Given the description of an element on the screen output the (x, y) to click on. 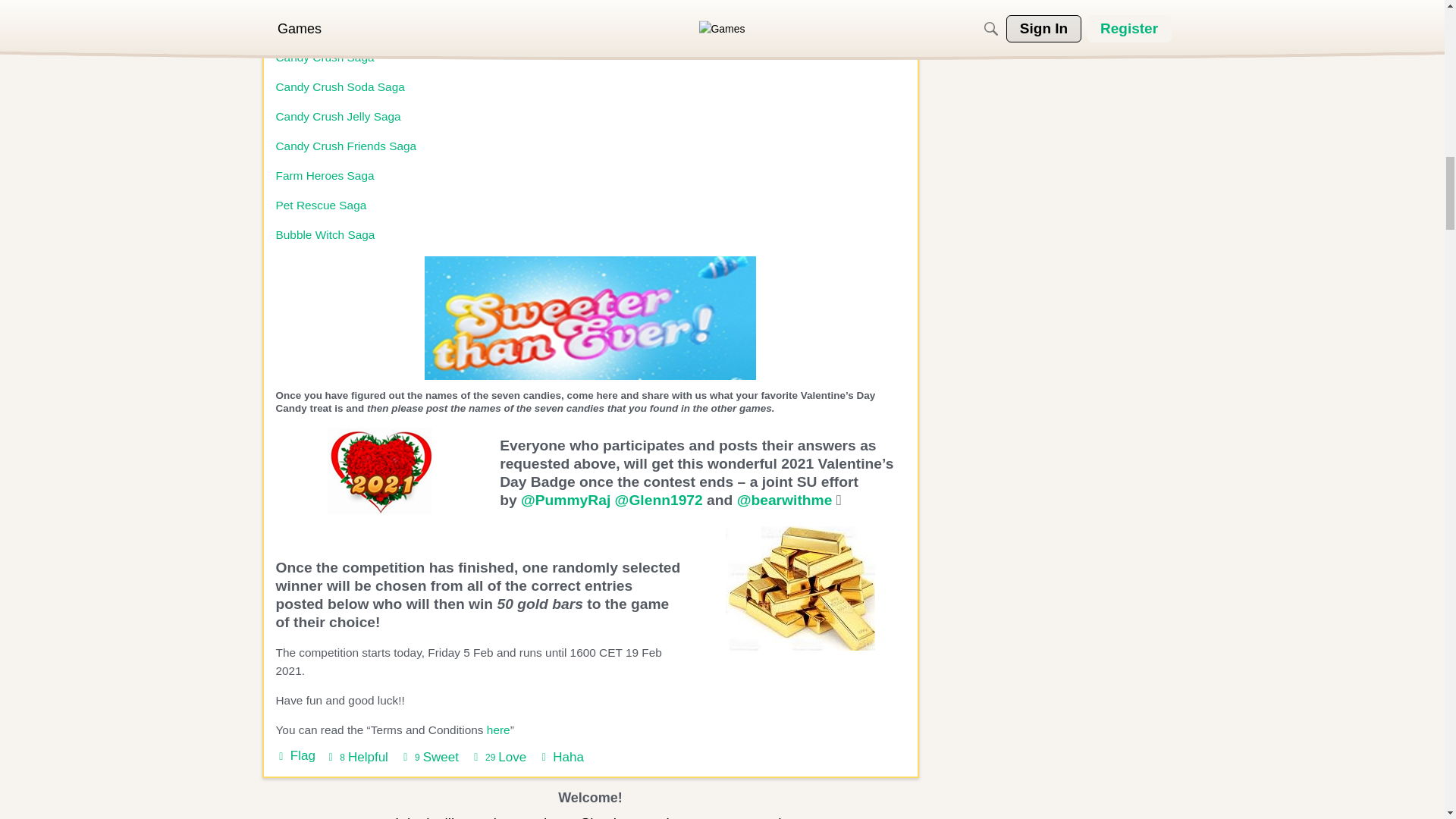
Helpful (356, 757)
Candy Crush Friends Saga (346, 145)
Candy Crush Soda Saga (340, 86)
Candy Crush Saga (356, 757)
Candy Crush Jelly Saga (325, 56)
Bubble Witch Saga (338, 115)
Pet Rescue Saga (325, 234)
Love (321, 205)
Sweet (497, 757)
